Given the description of an element on the screen output the (x, y) to click on. 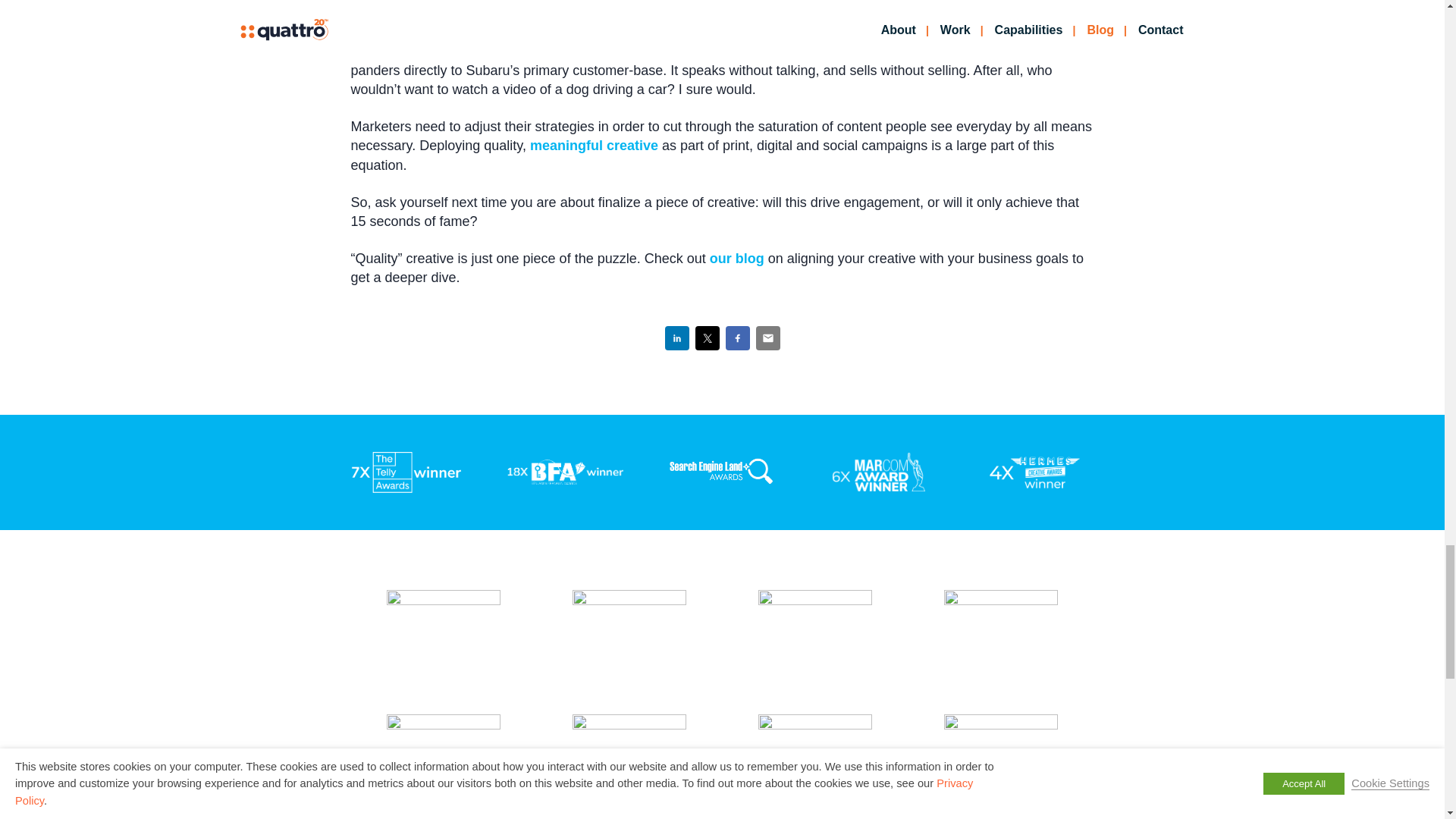
hermes-award (1036, 472)
SEOland (721, 471)
meaningful creative (593, 145)
our blog (737, 258)
telly (407, 472)
